Given the description of an element on the screen output the (x, y) to click on. 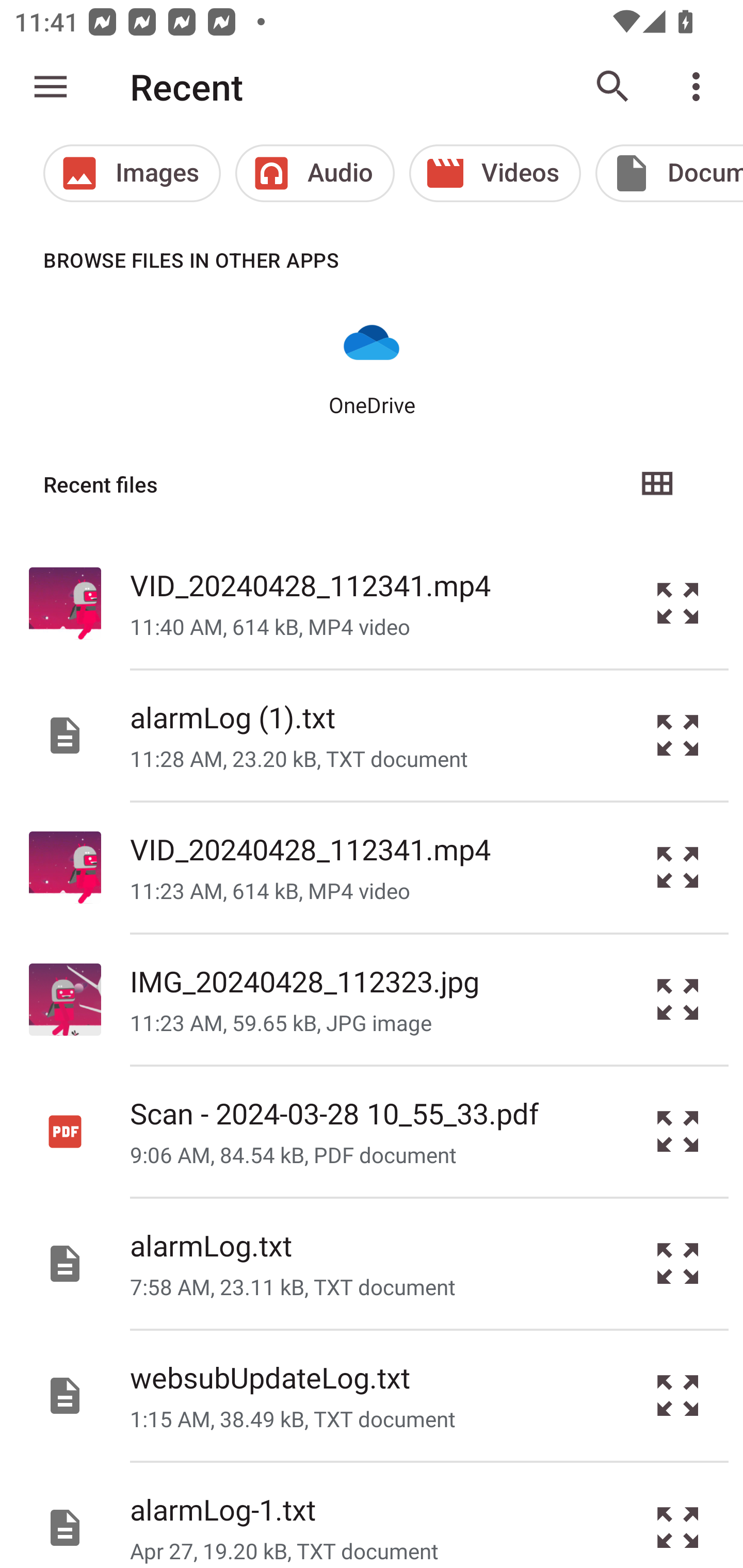
Show roots (50, 86)
Search (612, 86)
More options (699, 86)
Images (131, 173)
Audio (314, 173)
Videos (495, 173)
Documents (669, 173)
OneDrive (371, 365)
Grid view (655, 484)
Preview the file VID_20240428_112341.mp4 (677, 602)
Preview the file alarmLog (1).txt (677, 736)
Preview the file VID_20240428_112341.mp4 (677, 867)
Preview the file IMG_20240428_112323.jpg (677, 999)
Preview the file Scan - 2024-03-28 10_55_33.pdf (677, 1131)
Preview the file alarmLog.txt (677, 1262)
Preview the file websubUpdateLog.txt (677, 1396)
Preview the file alarmLog-1.txt (677, 1515)
